Given the description of an element on the screen output the (x, y) to click on. 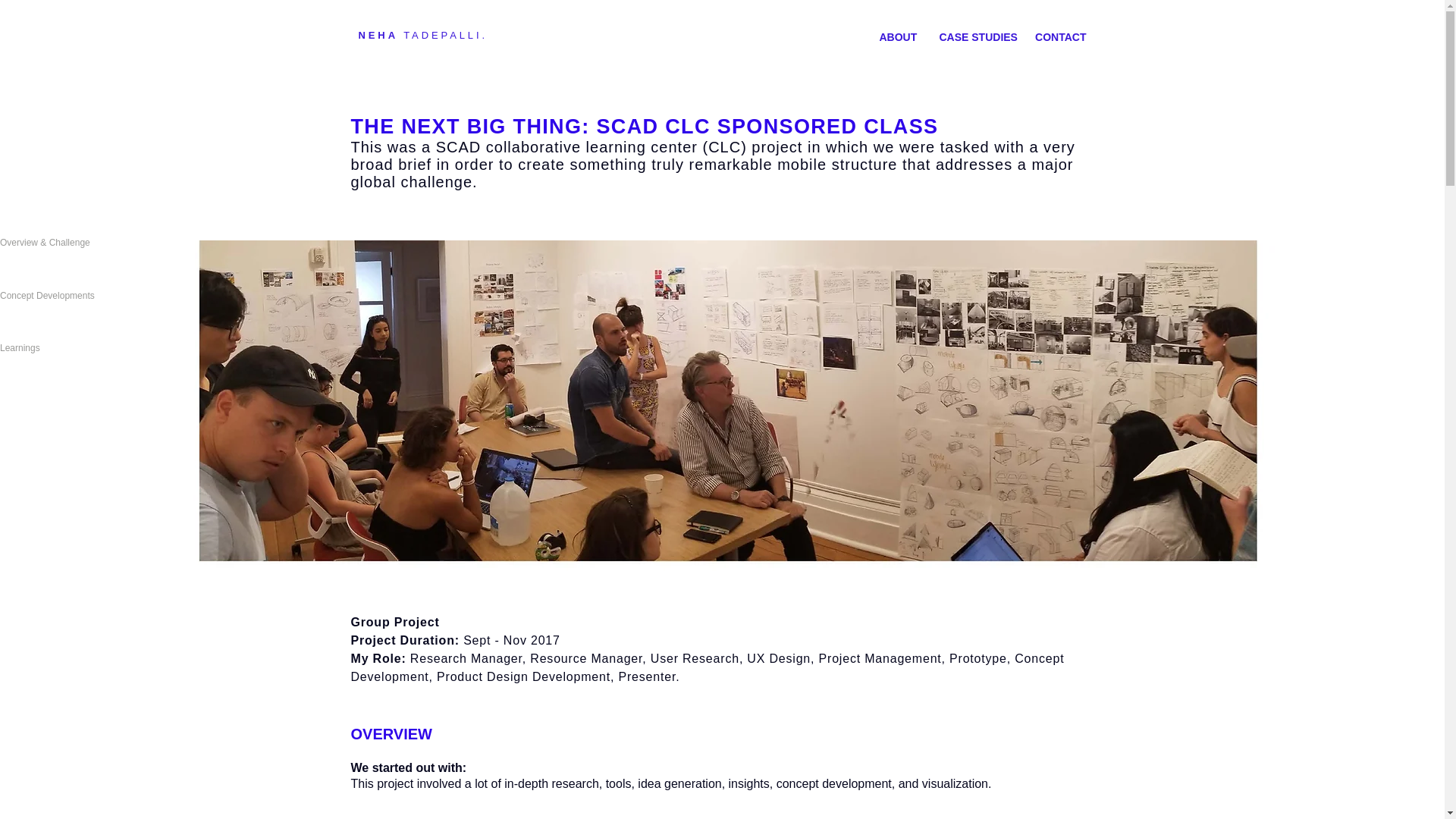
CASE STUDIES (975, 37)
ABOUT (897, 37)
Concept Developments (74, 295)
NEHA TADEPALLI. (422, 34)
Learnings (74, 348)
CONTACT (1060, 37)
